Given the description of an element on the screen output the (x, y) to click on. 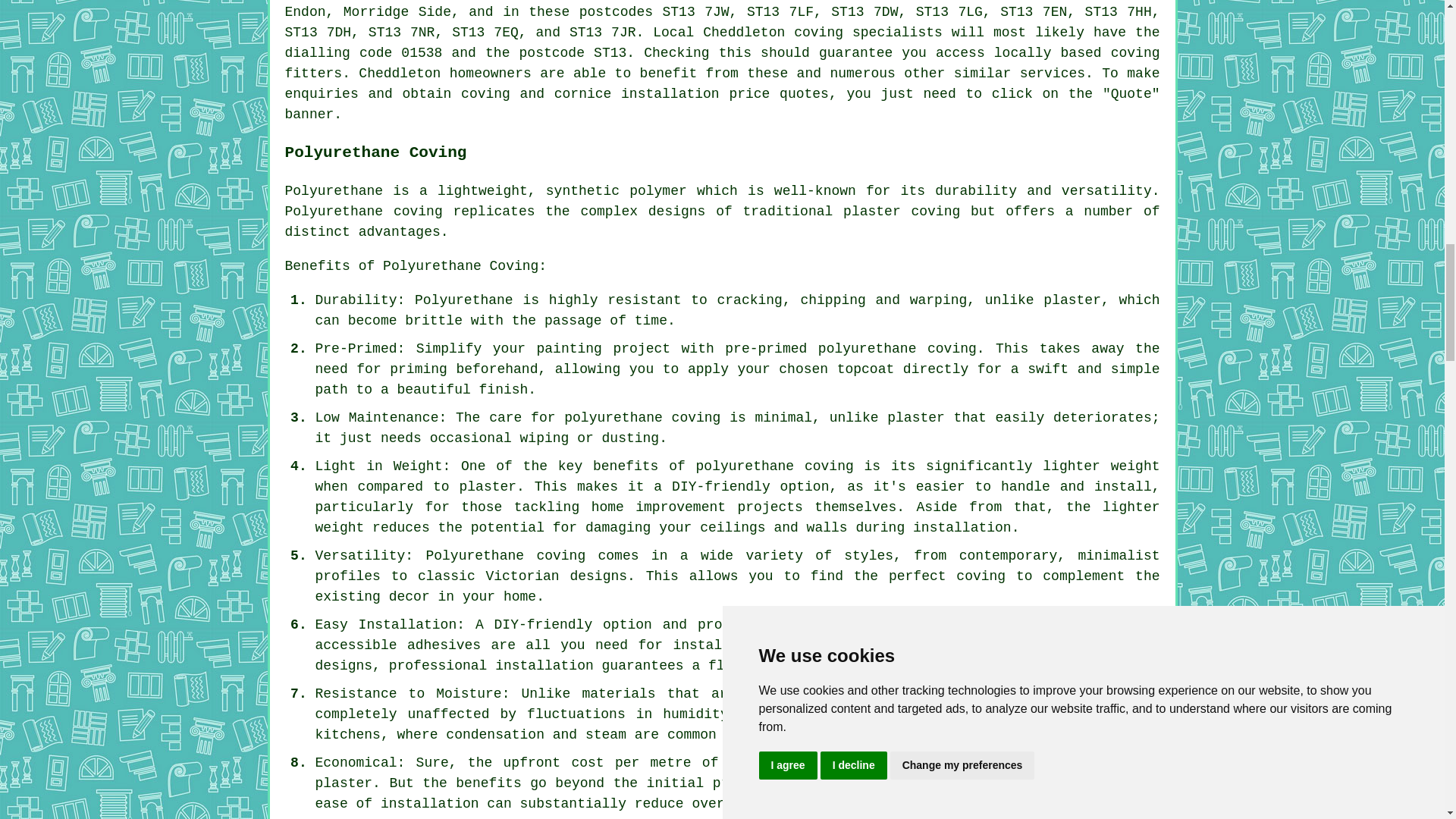
coving fitters (722, 63)
Polyurethane coving (363, 211)
coving specialists (867, 32)
